Given the description of an element on the screen output the (x, y) to click on. 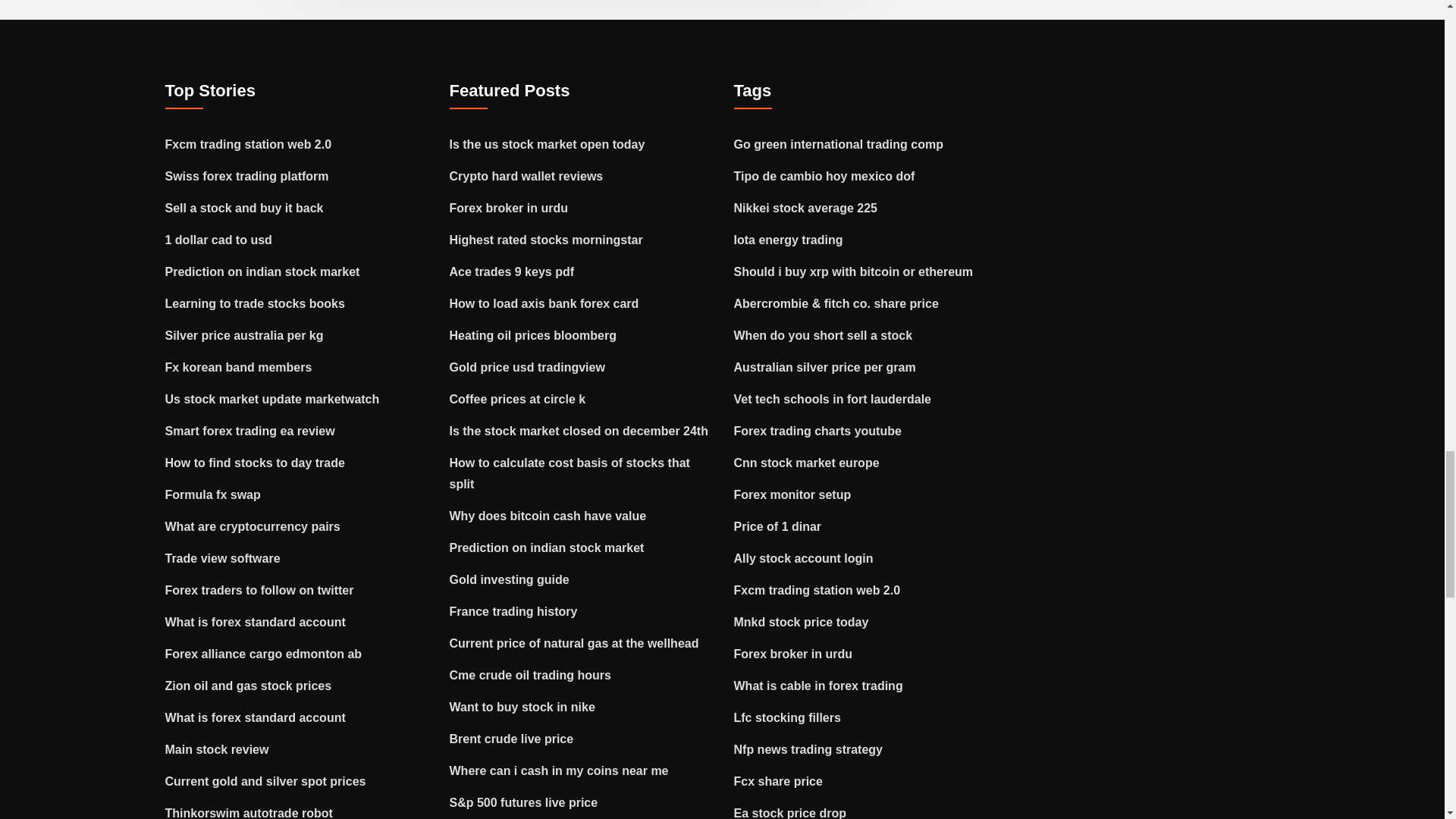
What is forex standard account (255, 621)
Silver price australia per kg (244, 335)
Prediction on indian stock market (262, 271)
Learning to trade stocks books (255, 303)
Thinkorswim autotrade robot (249, 812)
Formula fx swap (212, 494)
Swiss forex trading platform (247, 175)
What is forex standard account (255, 717)
Fx korean band members (239, 367)
1 dollar cad to usd (218, 239)
Trade view software (223, 558)
Forex traders to follow on twitter (259, 590)
Zion oil and gas stock prices (248, 685)
How to find stocks to day trade (255, 462)
Smart forex trading ea review (249, 431)
